Given the description of an element on the screen output the (x, y) to click on. 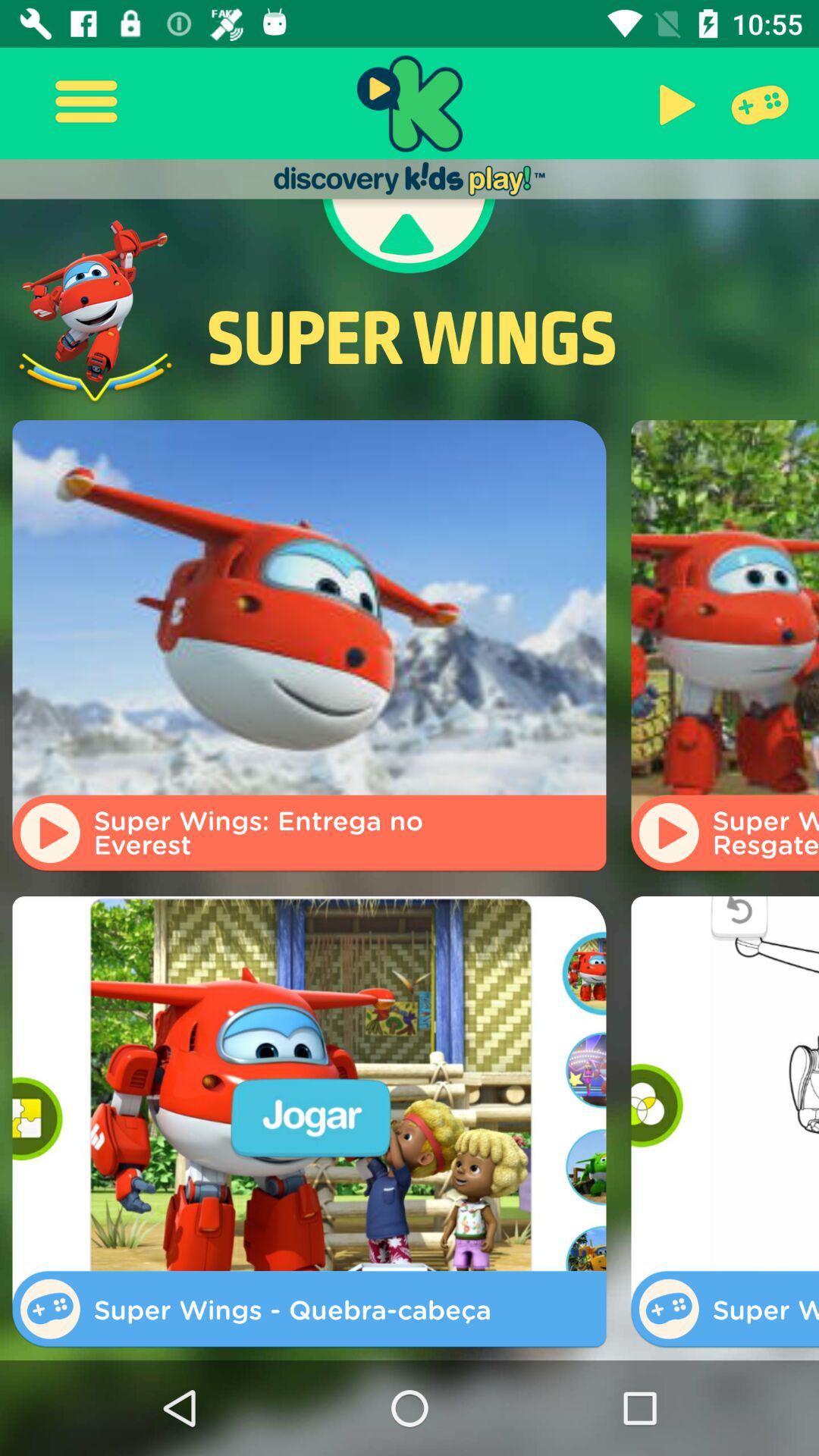
turn on the icon above the super wings (757, 102)
